Given the description of an element on the screen output the (x, y) to click on. 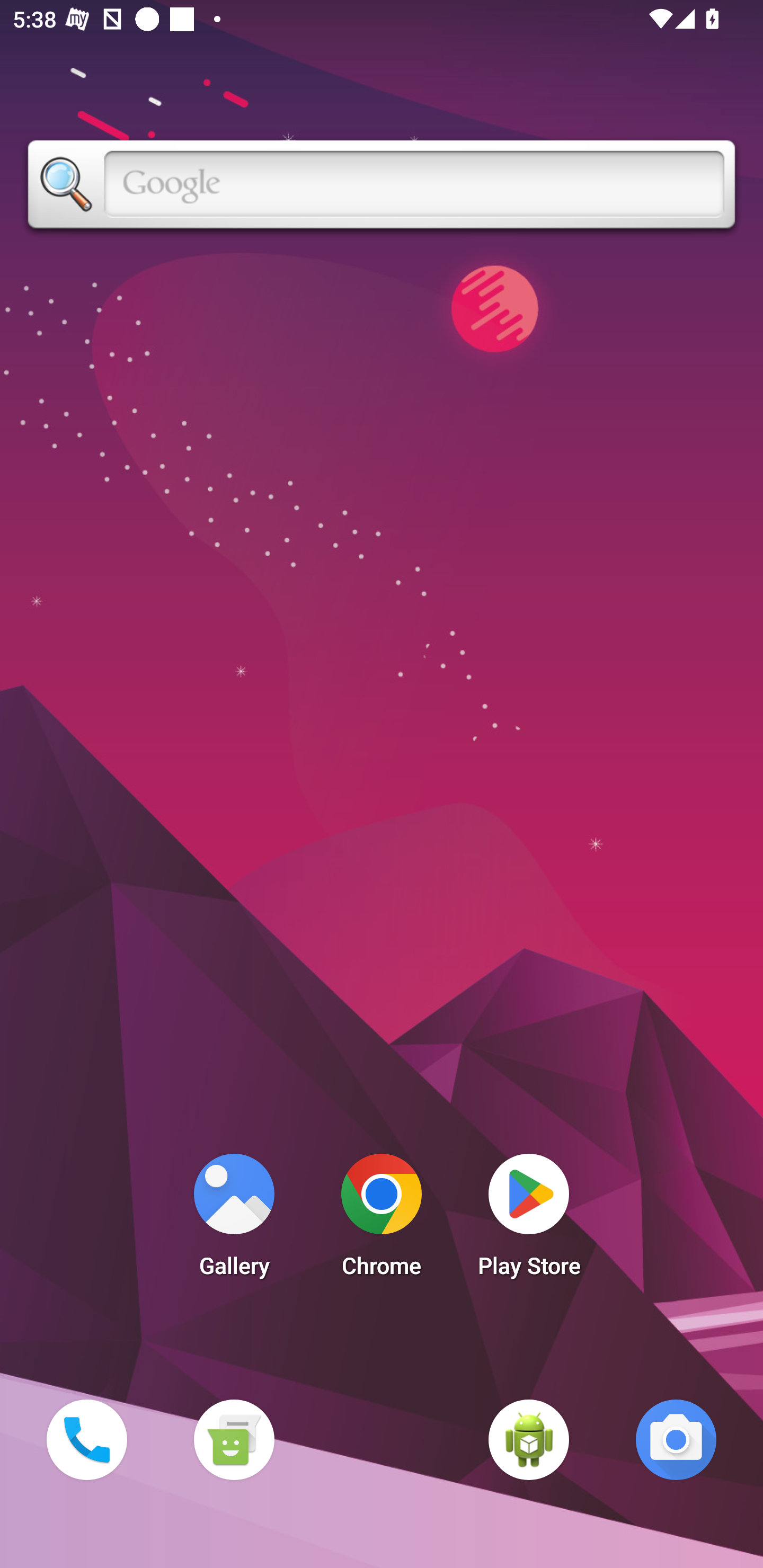
Gallery (233, 1220)
Chrome (381, 1220)
Play Store (528, 1220)
Phone (86, 1439)
Messaging (233, 1439)
WebView Browser Tester (528, 1439)
Camera (676, 1439)
